Given the description of an element on the screen output the (x, y) to click on. 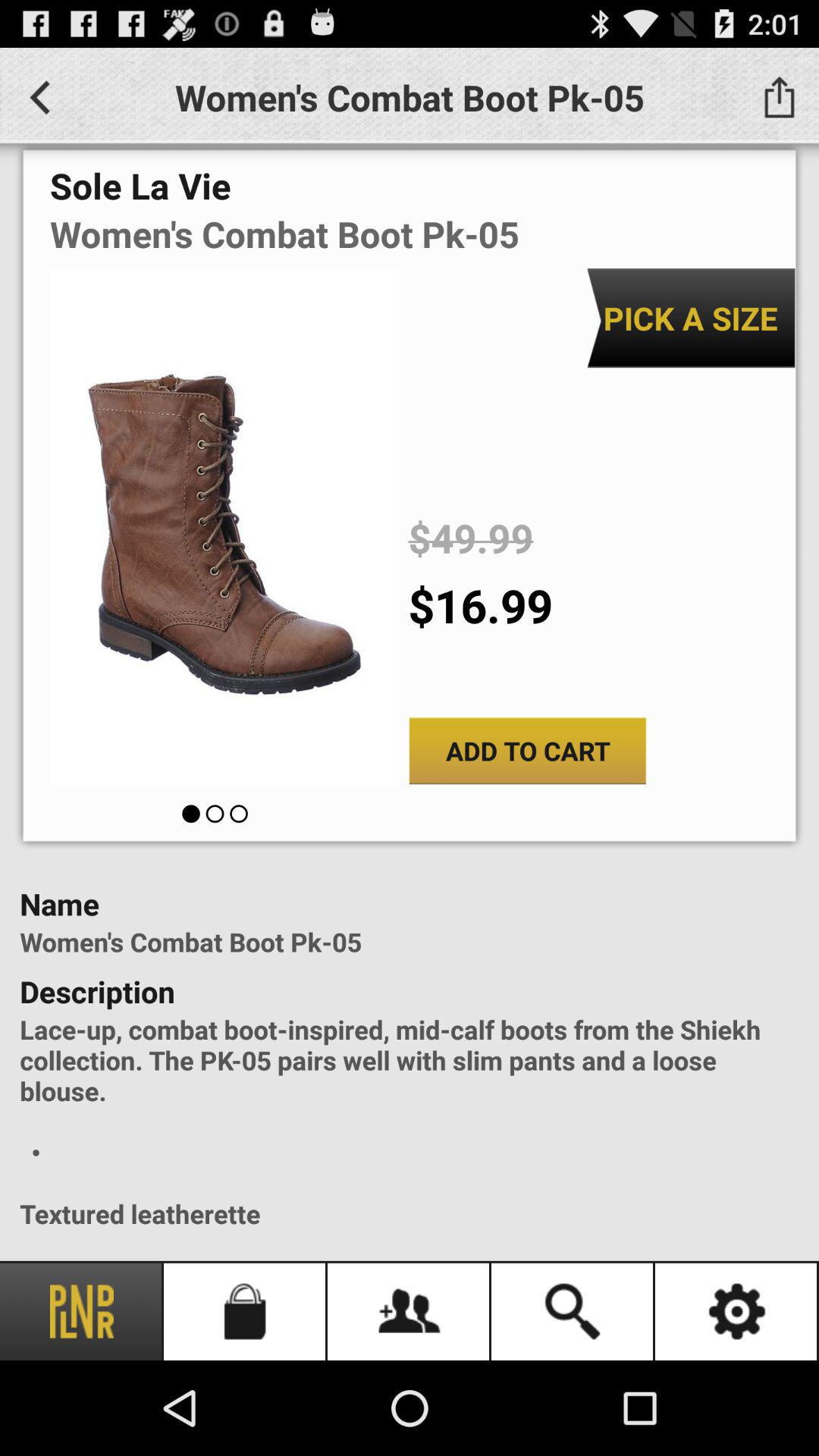
flip to add to cart icon (527, 751)
